Given the description of an element on the screen output the (x, y) to click on. 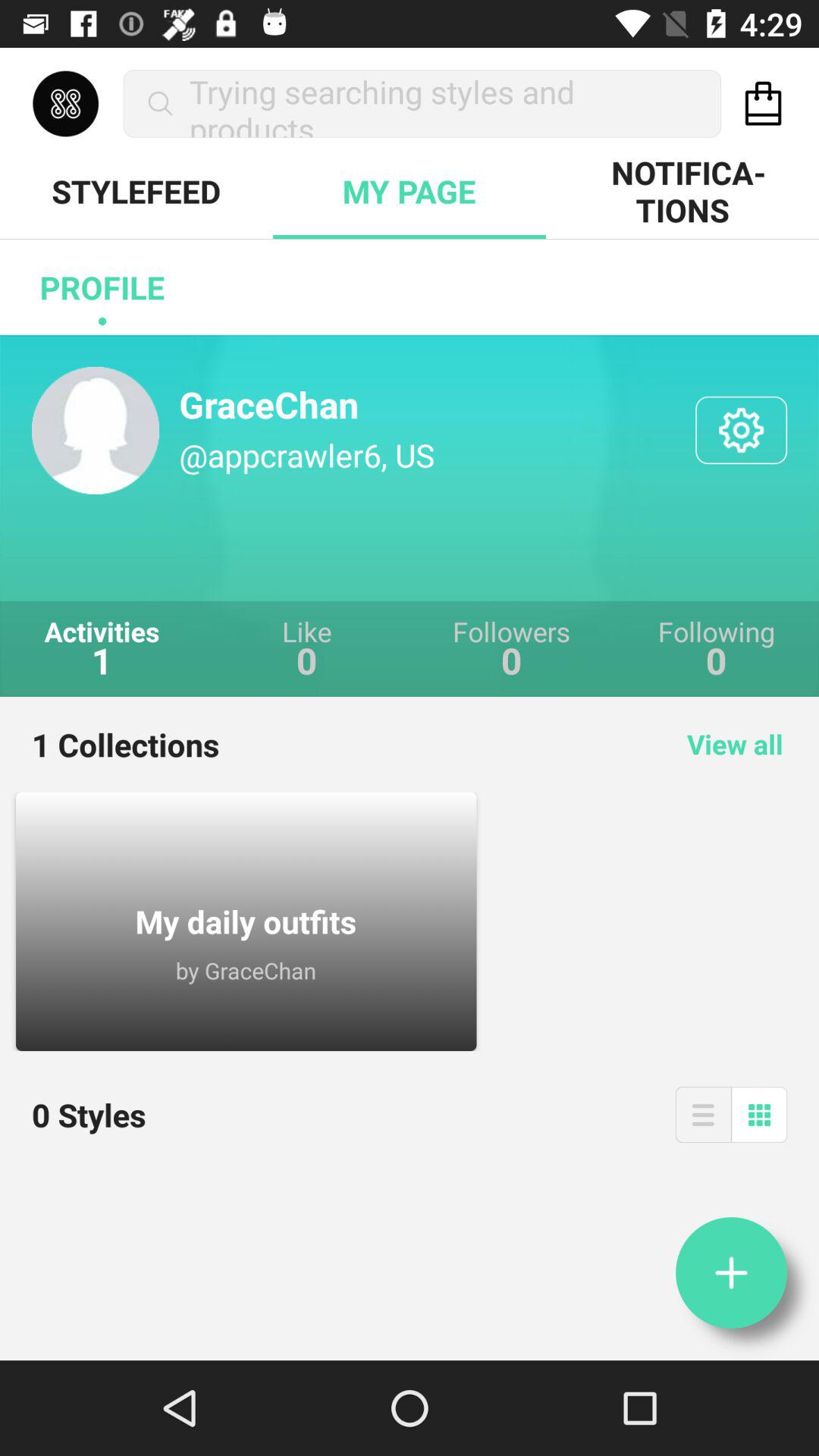
tap icon to the right of the trying searching styles item (763, 103)
